Given the description of an element on the screen output the (x, y) to click on. 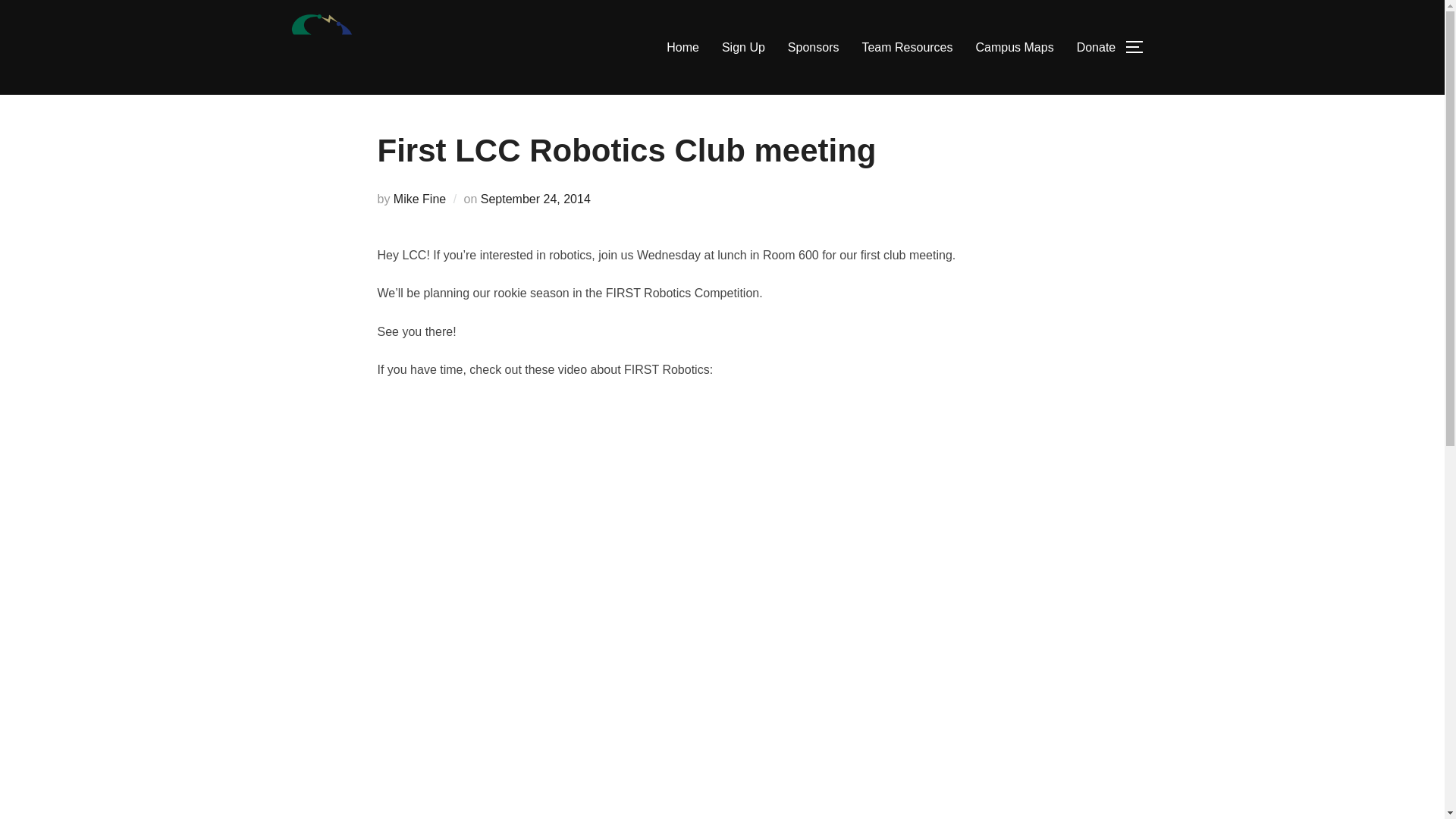
Sign Up (743, 47)
Home (682, 47)
Sponsors (813, 47)
Campus Maps (1013, 47)
September 24, 2014 (535, 198)
Team Resources (906, 47)
Donate (1096, 47)
Mike Fine (419, 198)
